Given the description of an element on the screen output the (x, y) to click on. 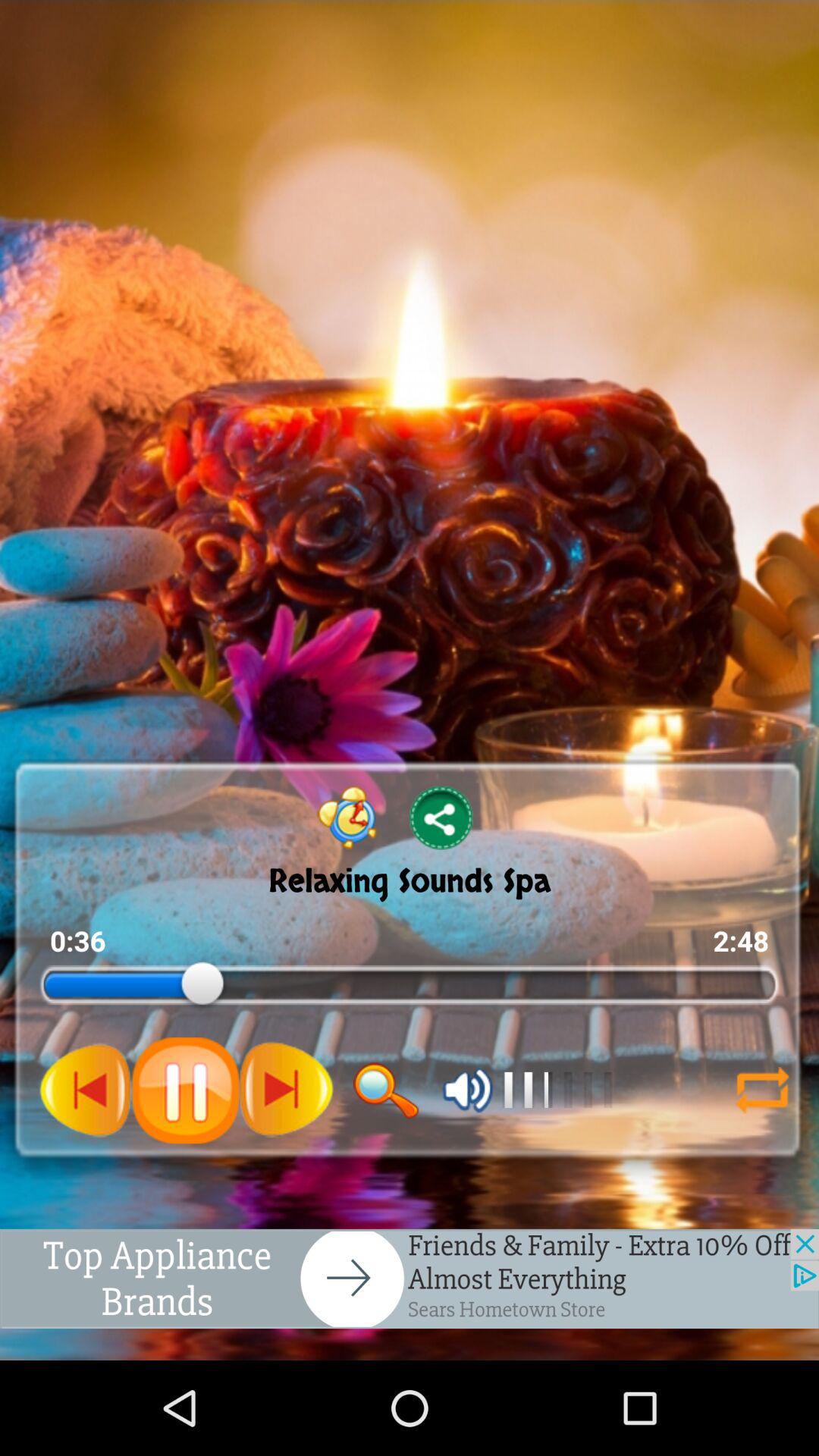
search option (386, 1090)
